Given the description of an element on the screen output the (x, y) to click on. 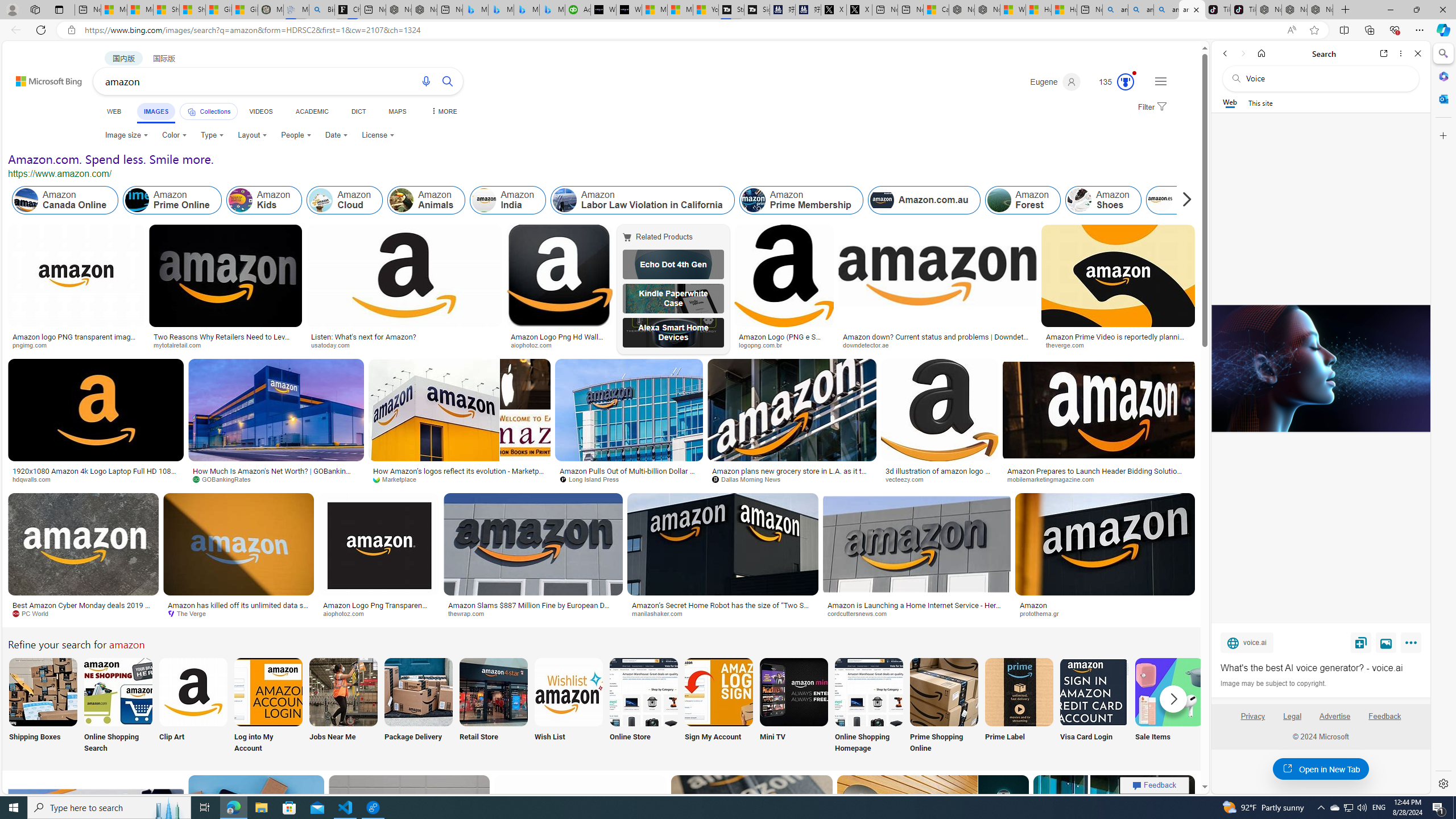
Clip Art (192, 706)
Listen: What's next for Amazon?usatoday.comSave (406, 289)
usatoday.com (403, 344)
What's the best AI voice generator? - voice.ai (1320, 368)
Privacy (1252, 715)
Amazon Sale Items (1169, 691)
Visa Card Login (1093, 706)
Search button (447, 80)
Amazon Sale Items Sale Items (1169, 706)
logopng.com.br (783, 344)
pngimg.com (76, 344)
